Given the description of an element on the screen output the (x, y) to click on. 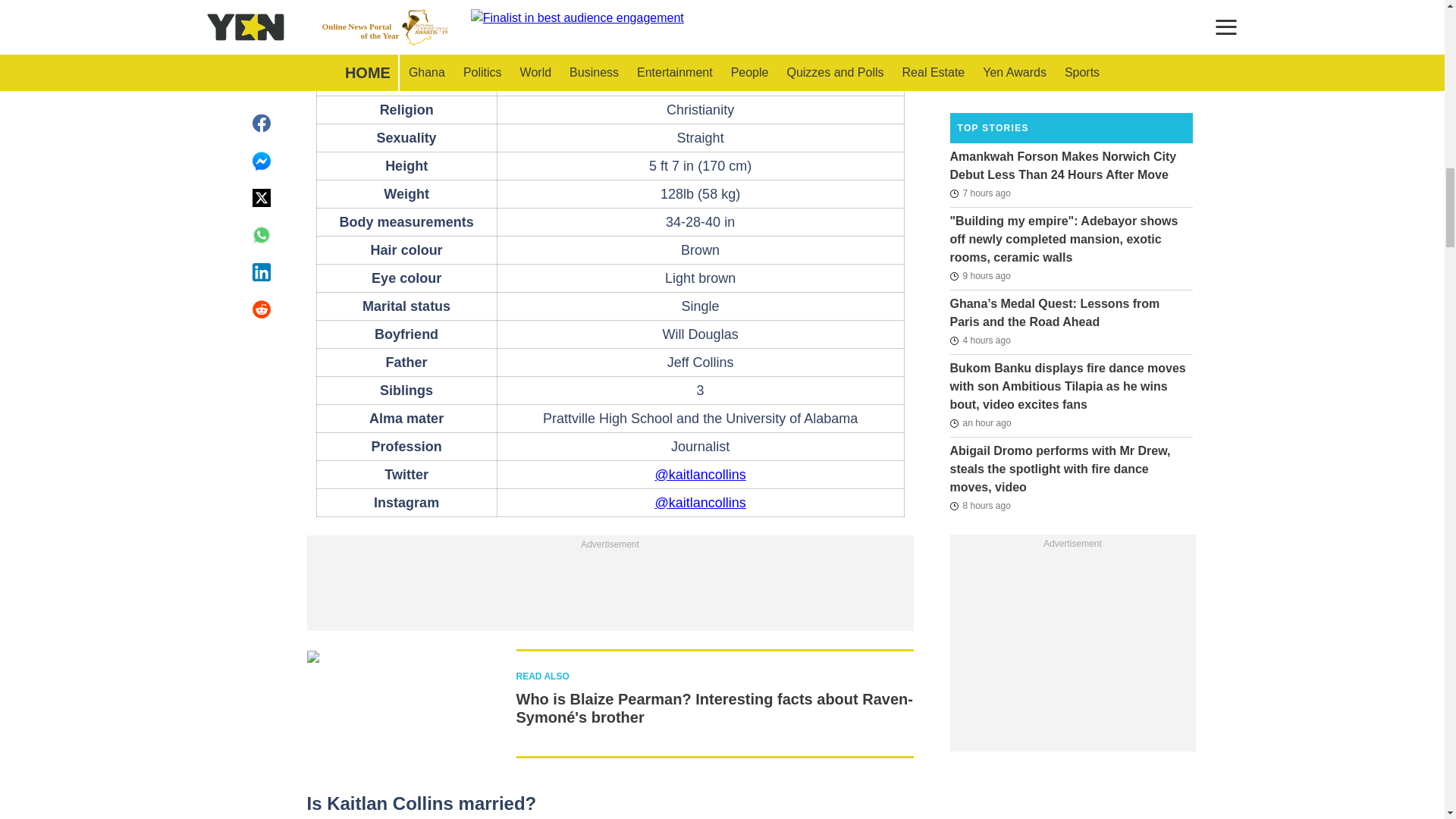
2024-08-11T15:46:23Z (979, 193)
2024-01-17T05:29:10Z (983, 84)
2024-07-18T16:32:10Z (980, 5)
2024-08-11T18:20:01Z (979, 340)
2024-08-11T14:10:08Z (979, 275)
2024-08-11T21:19:41Z (979, 423)
